Given the description of an element on the screen output the (x, y) to click on. 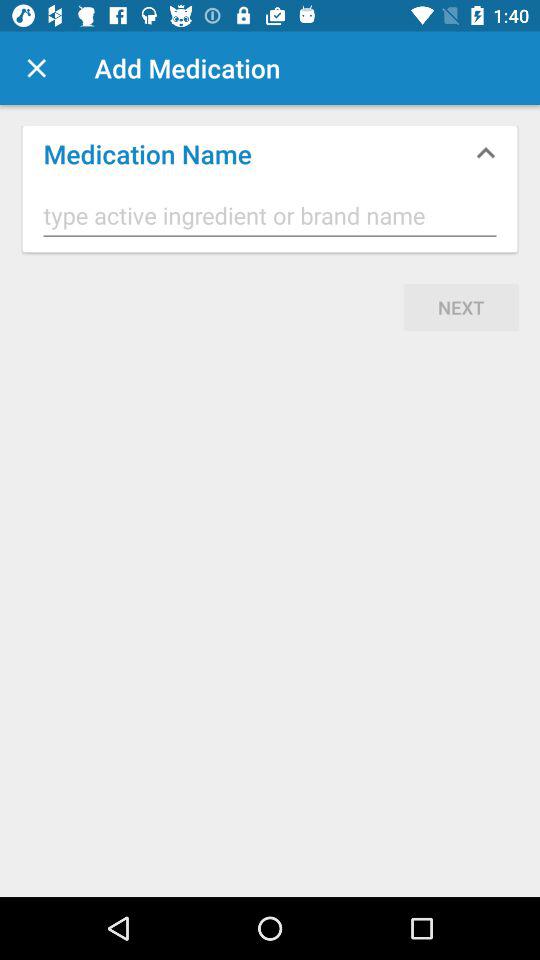
close window (36, 68)
